Given the description of an element on the screen output the (x, y) to click on. 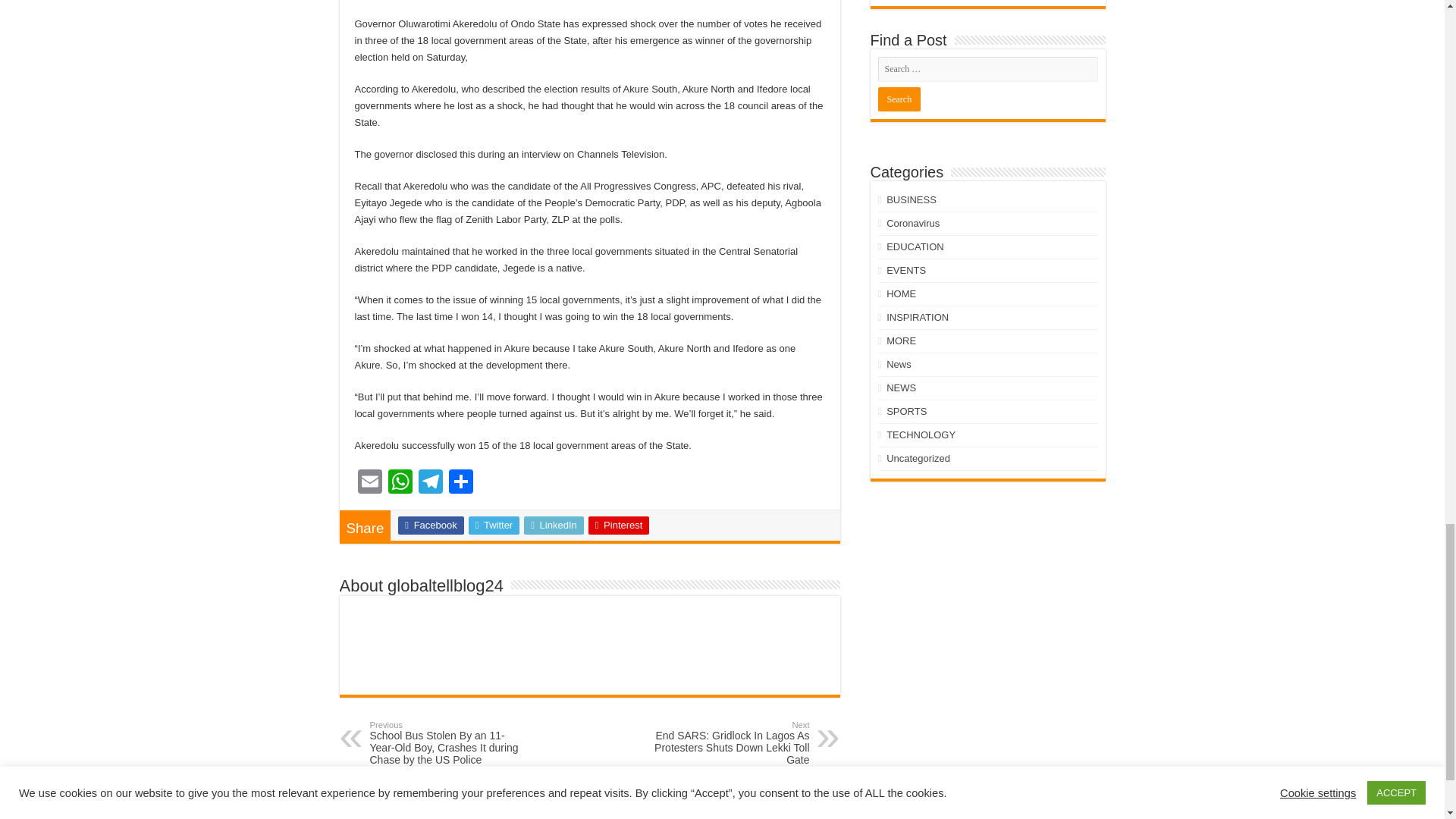
Search (899, 98)
Search (899, 98)
